Given the description of an element on the screen output the (x, y) to click on. 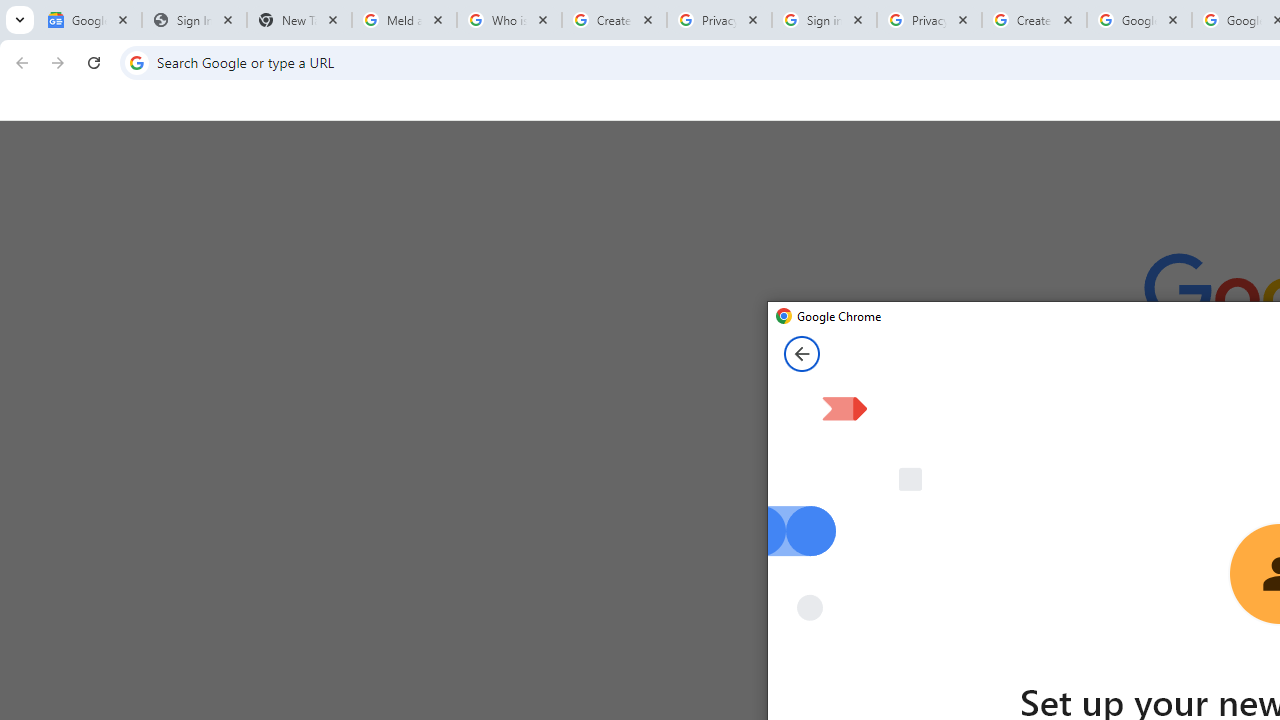
Who is my administrator? - Google Account Help (509, 20)
New Tab (299, 20)
Back from Set up your new Chrome profile page (801, 354)
Sign In - USA TODAY (194, 20)
Sign in - Google Accounts (823, 20)
Google News (89, 20)
